Given the description of an element on the screen output the (x, y) to click on. 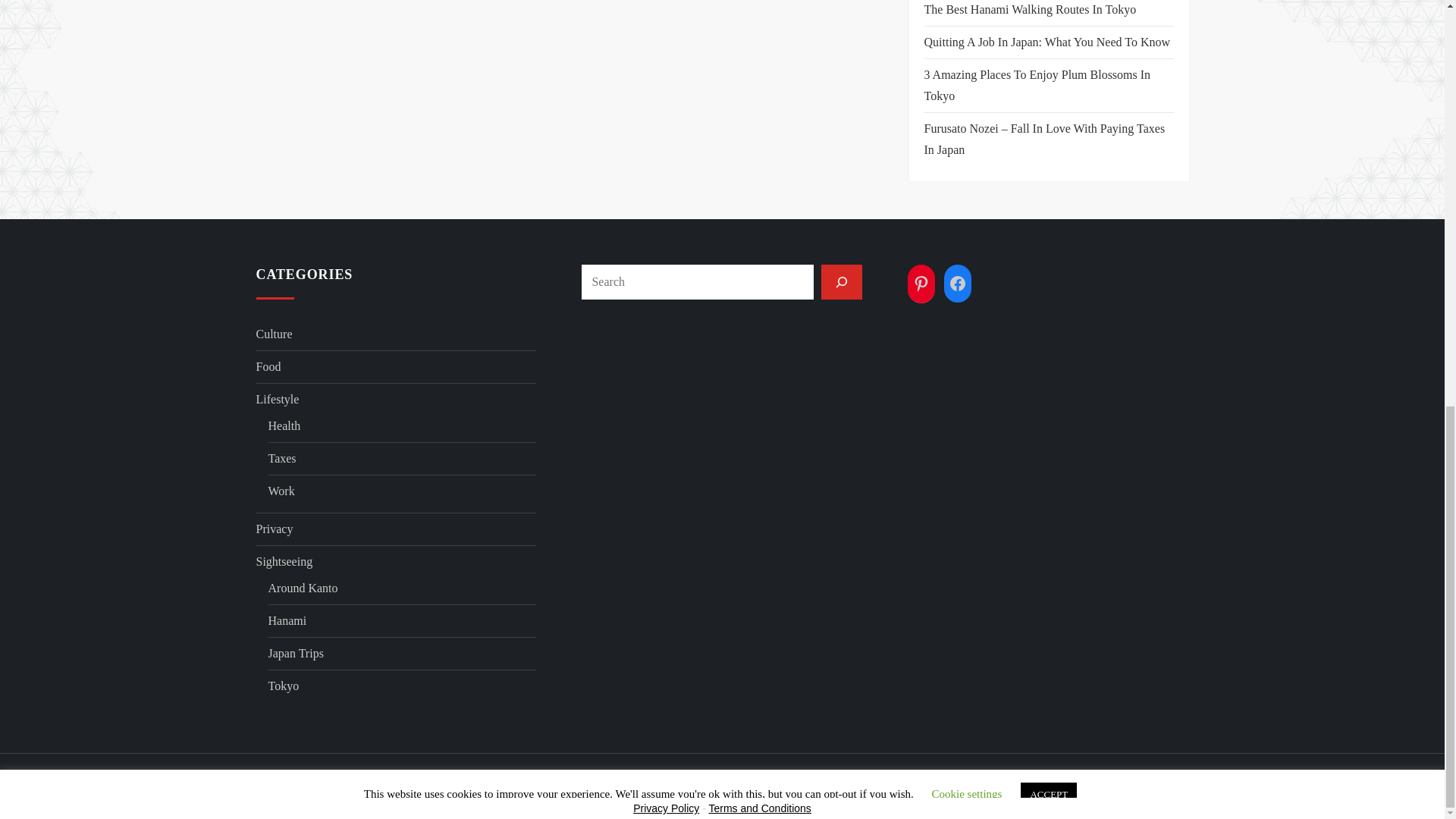
Taxes (282, 458)
Culture (274, 333)
Japan Trips (295, 653)
Health (284, 425)
Sightseeing (284, 561)
Quitting A Job In Japan: What You Need To Know (1046, 42)
Food (268, 366)
Around Kanto (302, 588)
Hanami (287, 620)
Work (281, 491)
